Given the description of an element on the screen output the (x, y) to click on. 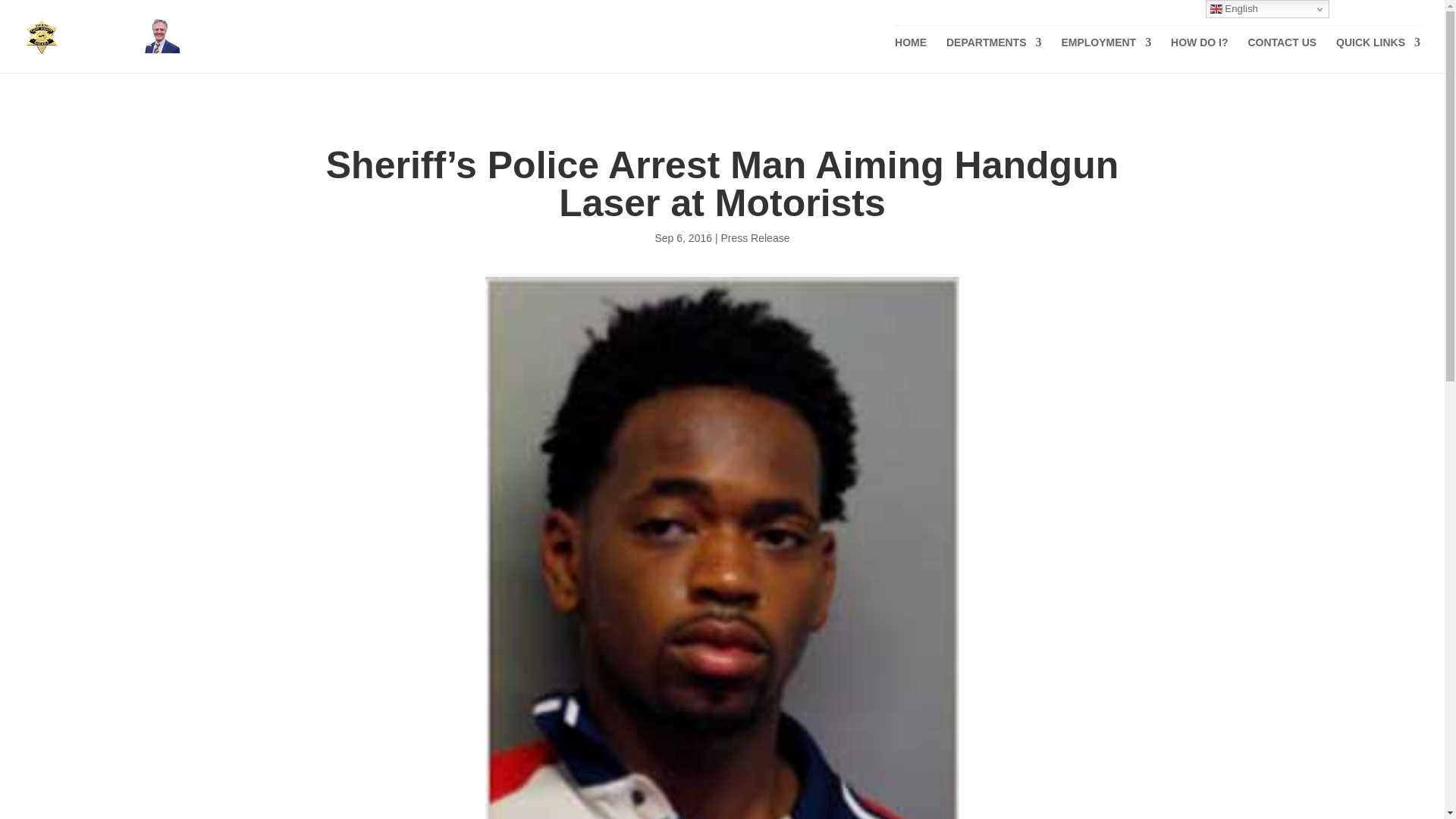
QUICK LINKS (1378, 54)
HOME (910, 54)
DEPARTMENTS (994, 54)
EMPLOYMENT (1106, 54)
HOW DO I? (1198, 54)
CONTACT US (1281, 54)
